Given the description of an element on the screen output the (x, y) to click on. 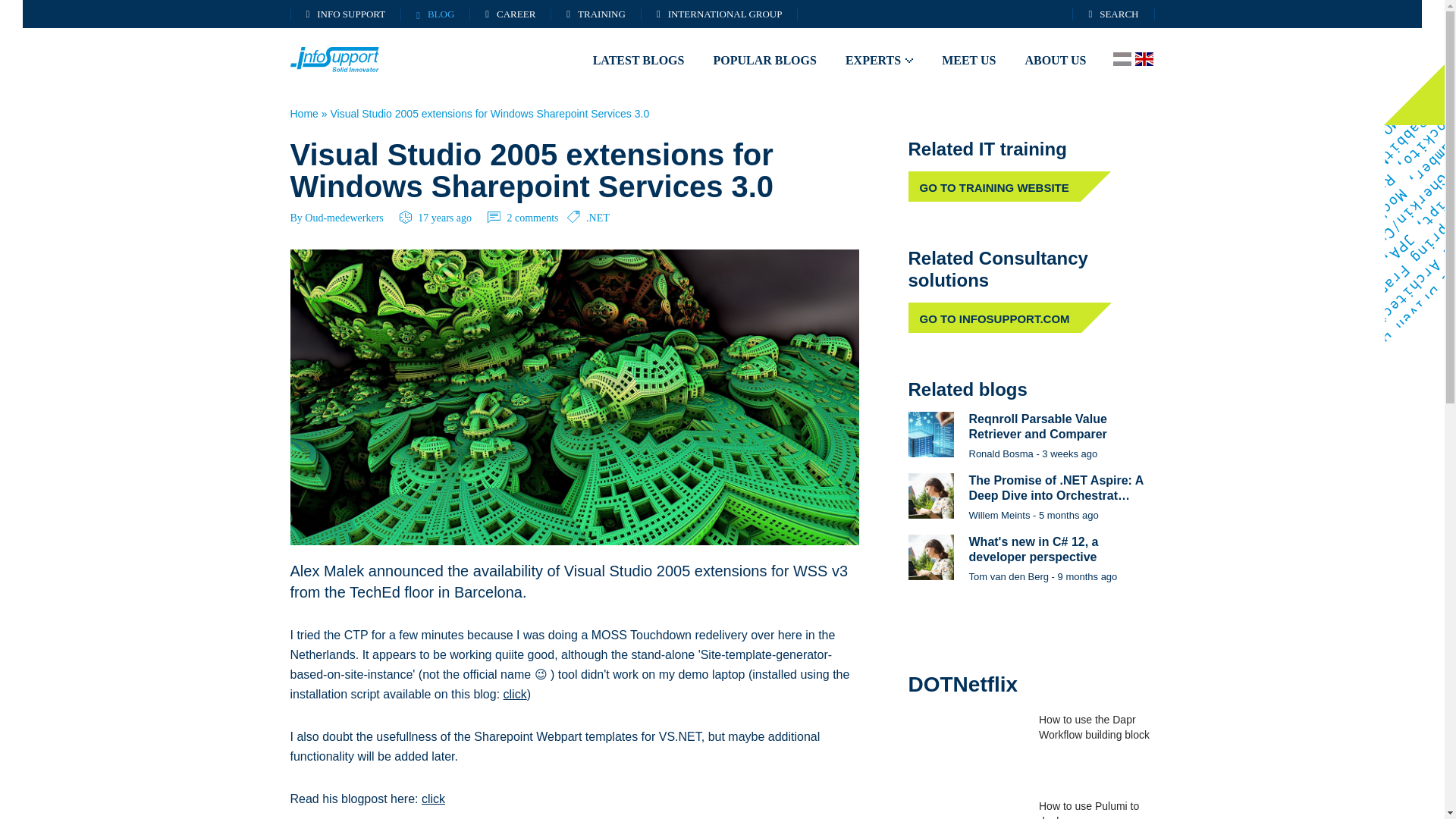
LATEST BLOGS (638, 60)
INTERNATIONAL GROUP (719, 13)
INFO SUPPORT (345, 13)
POPULAR BLOGS (764, 60)
SEARCH (1112, 13)
Info Support Blog (351, 59)
ABOUT US (1055, 60)
EXPERTS (878, 60)
TRAINING (596, 13)
BLOG (435, 13)
